Given the description of an element on the screen output the (x, y) to click on. 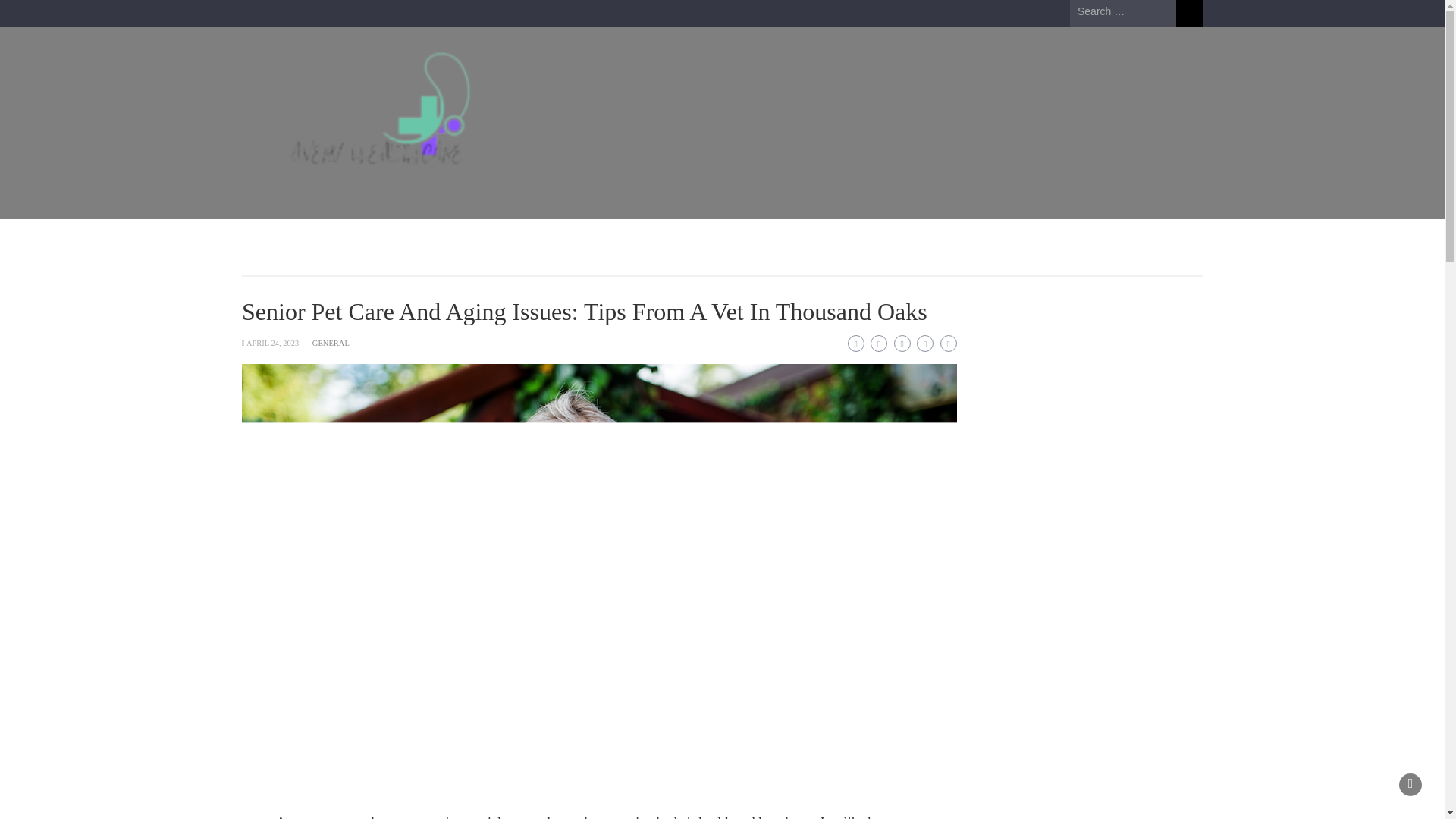
Search (1189, 13)
APRIL 24, 2023 (272, 343)
Women Health (492, 238)
Contact us (668, 238)
Motivation (585, 238)
Write for us (752, 238)
Search (1189, 13)
Search (1189, 13)
GENERAL (331, 343)
 Drug (411, 238)
